Given the description of an element on the screen output the (x, y) to click on. 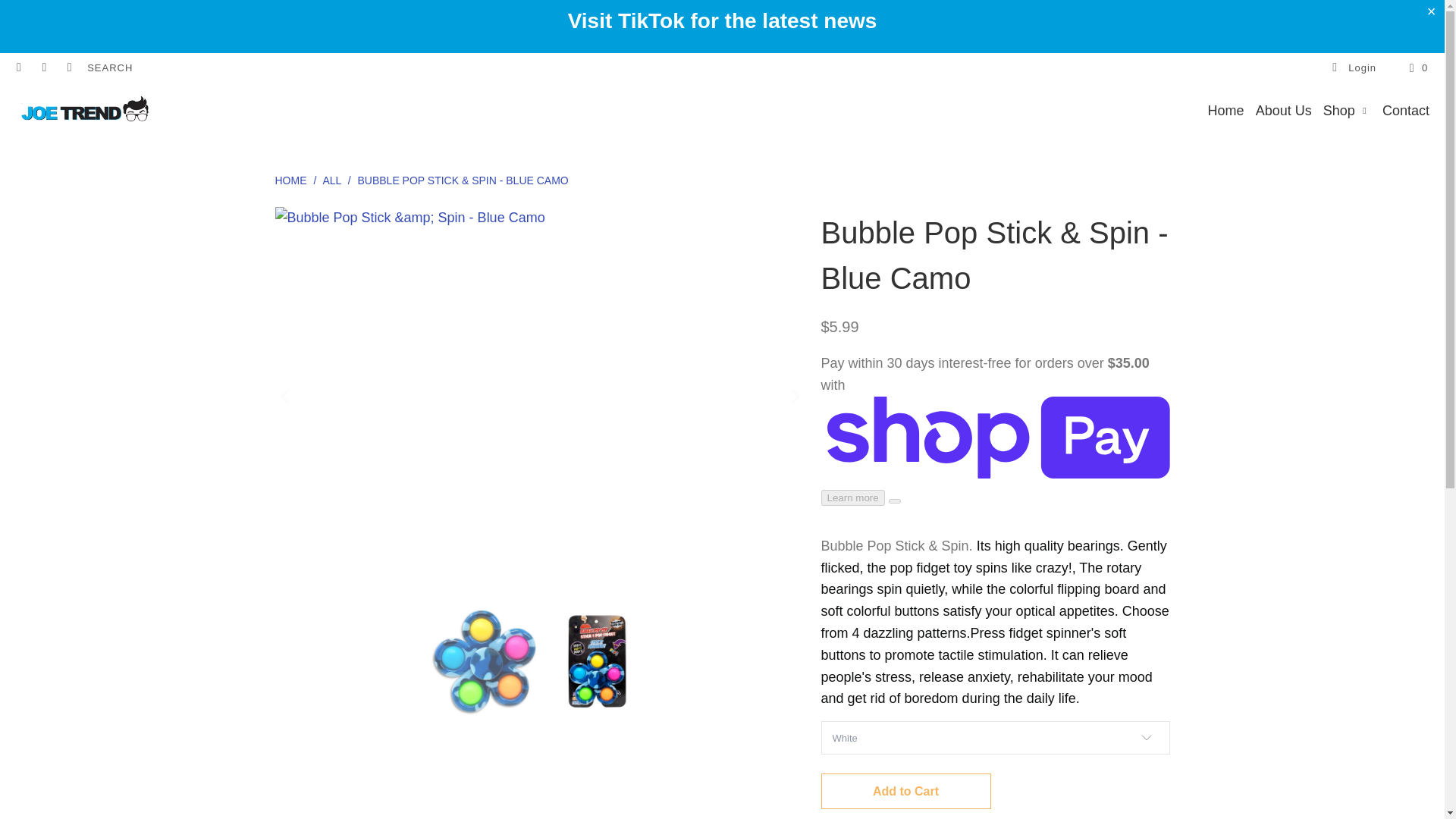
Shop (1347, 110)
Login (1353, 68)
joe trend shop on Facebook (17, 67)
Visit TikTok for the latest news (722, 20)
joe trend shop (290, 180)
HOME (290, 180)
joe trend shop (84, 110)
joe trend shop on Instagram (42, 67)
Contact (1405, 110)
SEARCH (109, 68)
